Given the description of an element on the screen output the (x, y) to click on. 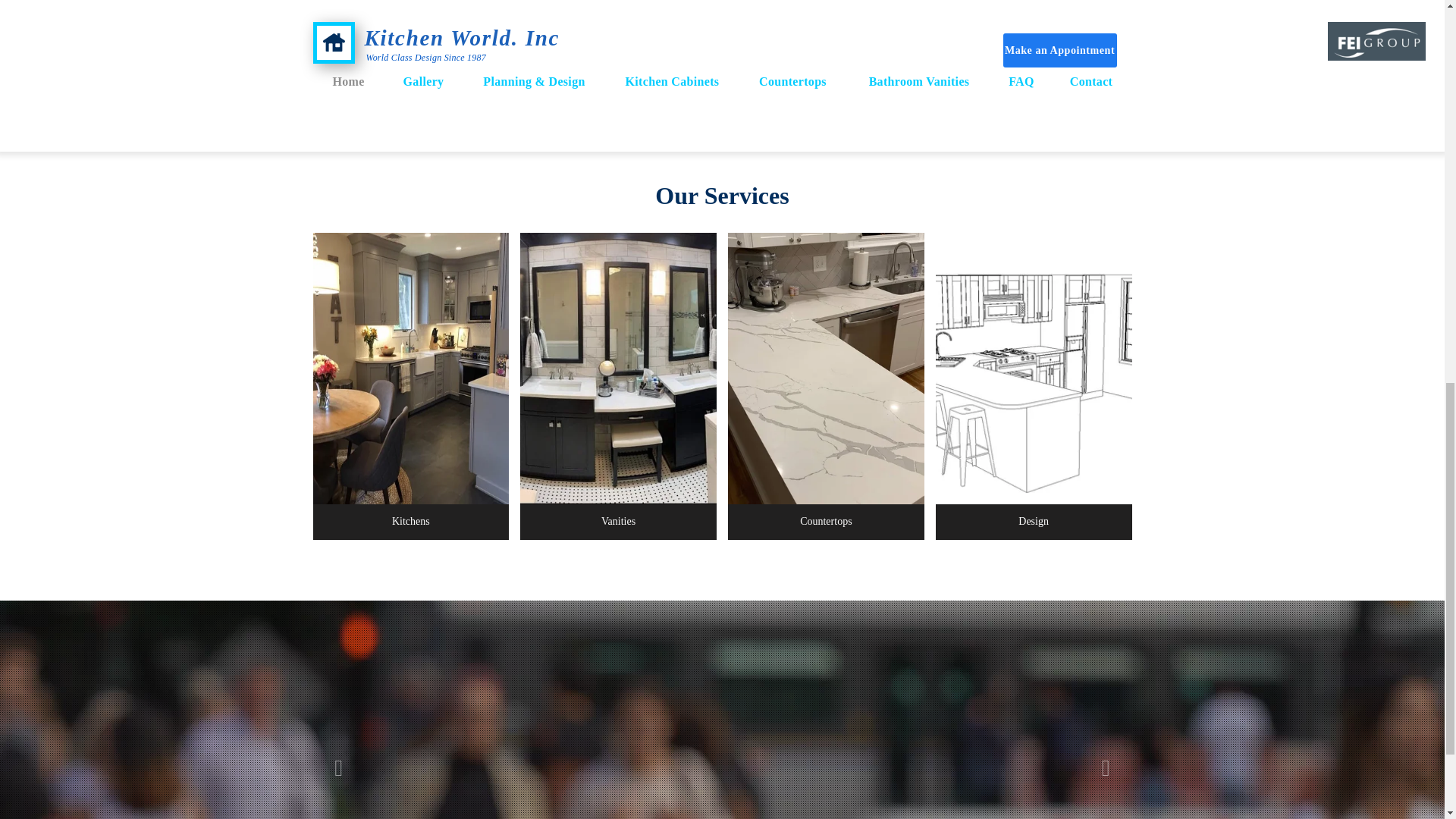
Design (1034, 521)
Countertops (826, 521)
Vanities (617, 521)
Kitchens (410, 521)
